Given the description of an element on the screen output the (x, y) to click on. 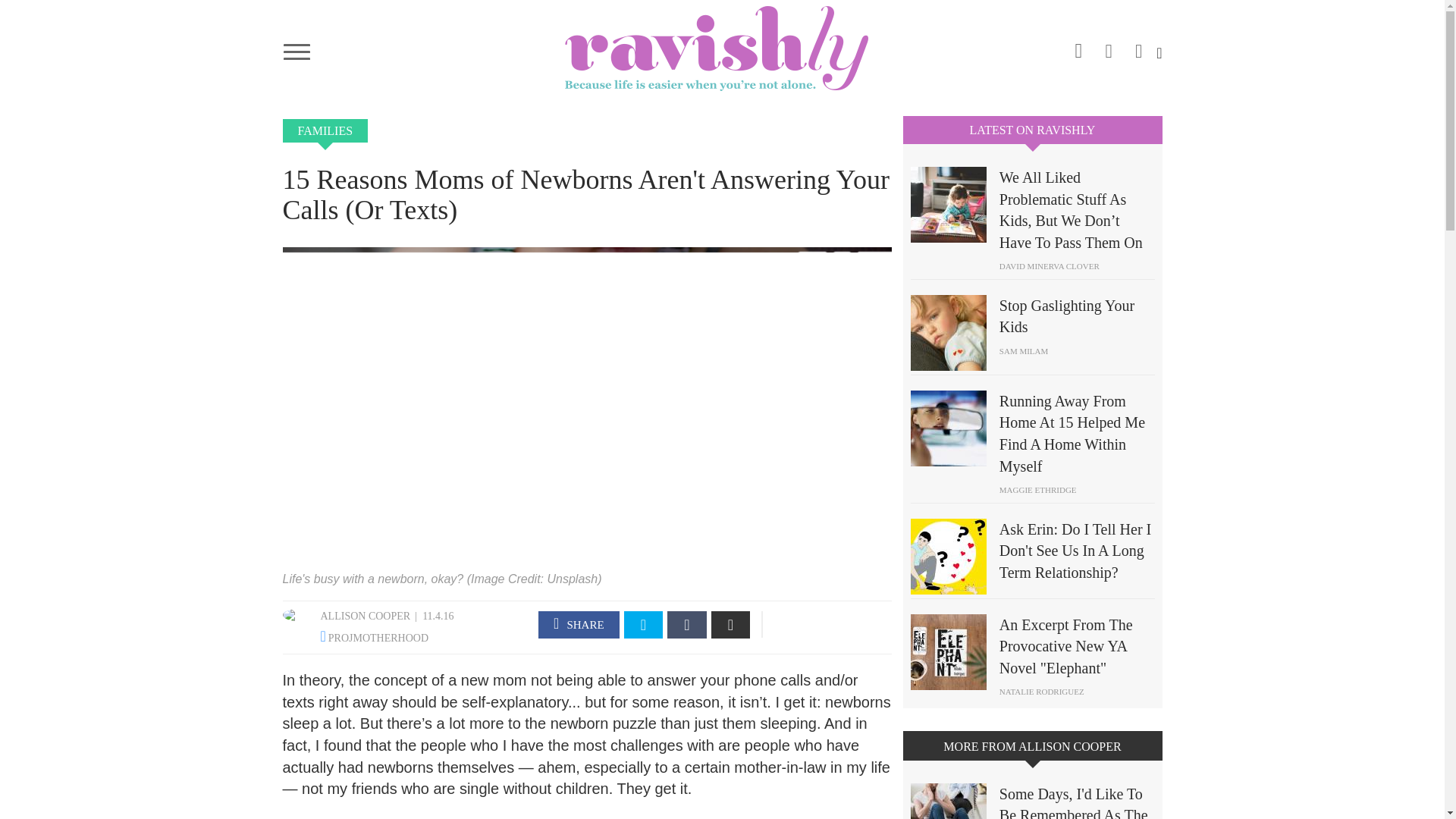
twitter (643, 624)
ALLISON COOPER (365, 615)
PROJMOTHERHOOD (378, 637)
FAMILIES (325, 130)
Email (731, 624)
Home (721, 47)
facebook (1108, 46)
Tumblr (686, 624)
instagram (1077, 48)
facebook (579, 624)
twitter (1138, 46)
